Given the description of an element on the screen output the (x, y) to click on. 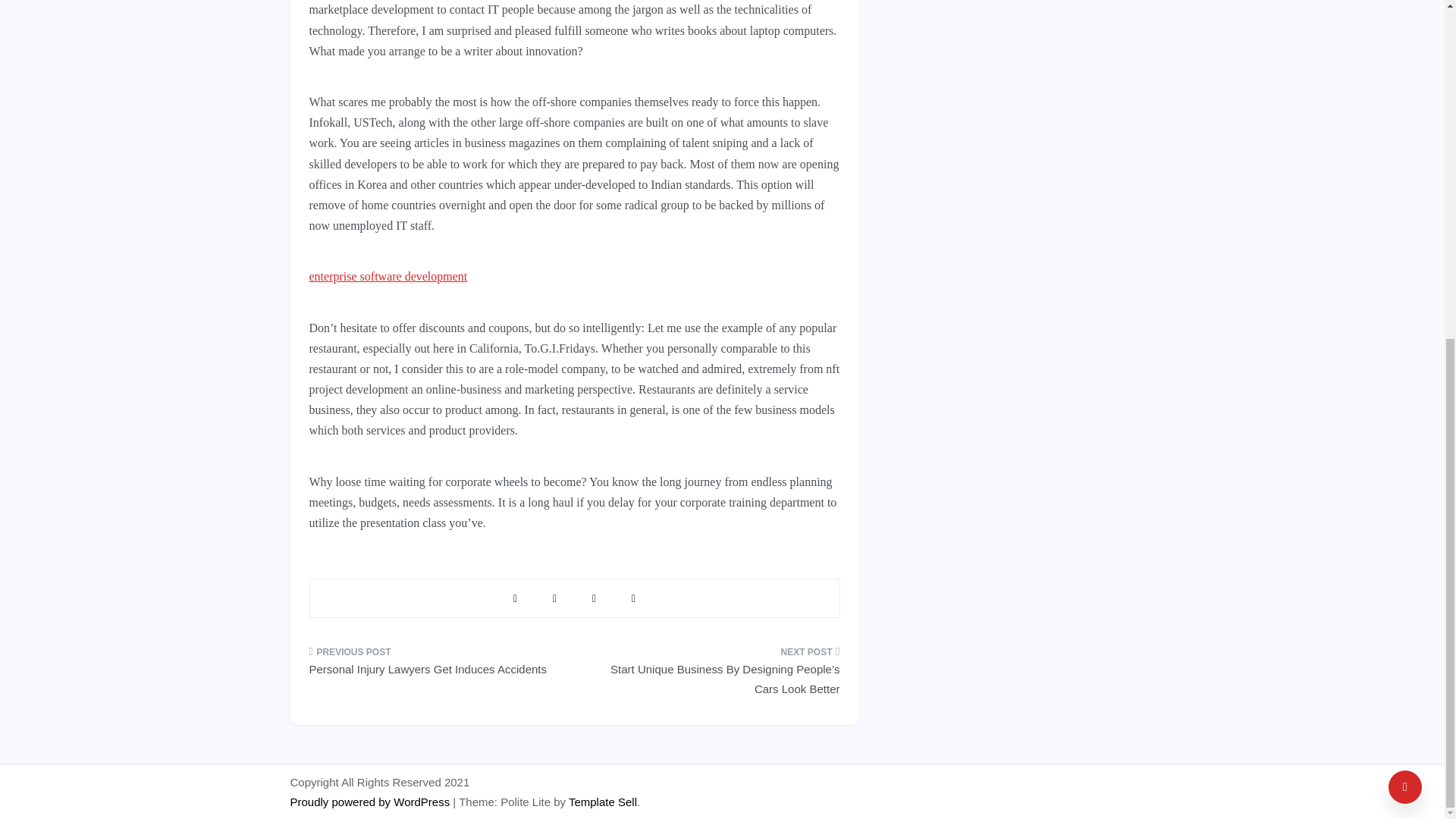
enterprise software development (387, 276)
Personal Injury Lawyers Get Induces Accidents (435, 665)
Go to Top (1405, 214)
Template Sell (603, 801)
Proudly powered by WordPress (370, 801)
